Given the description of an element on the screen output the (x, y) to click on. 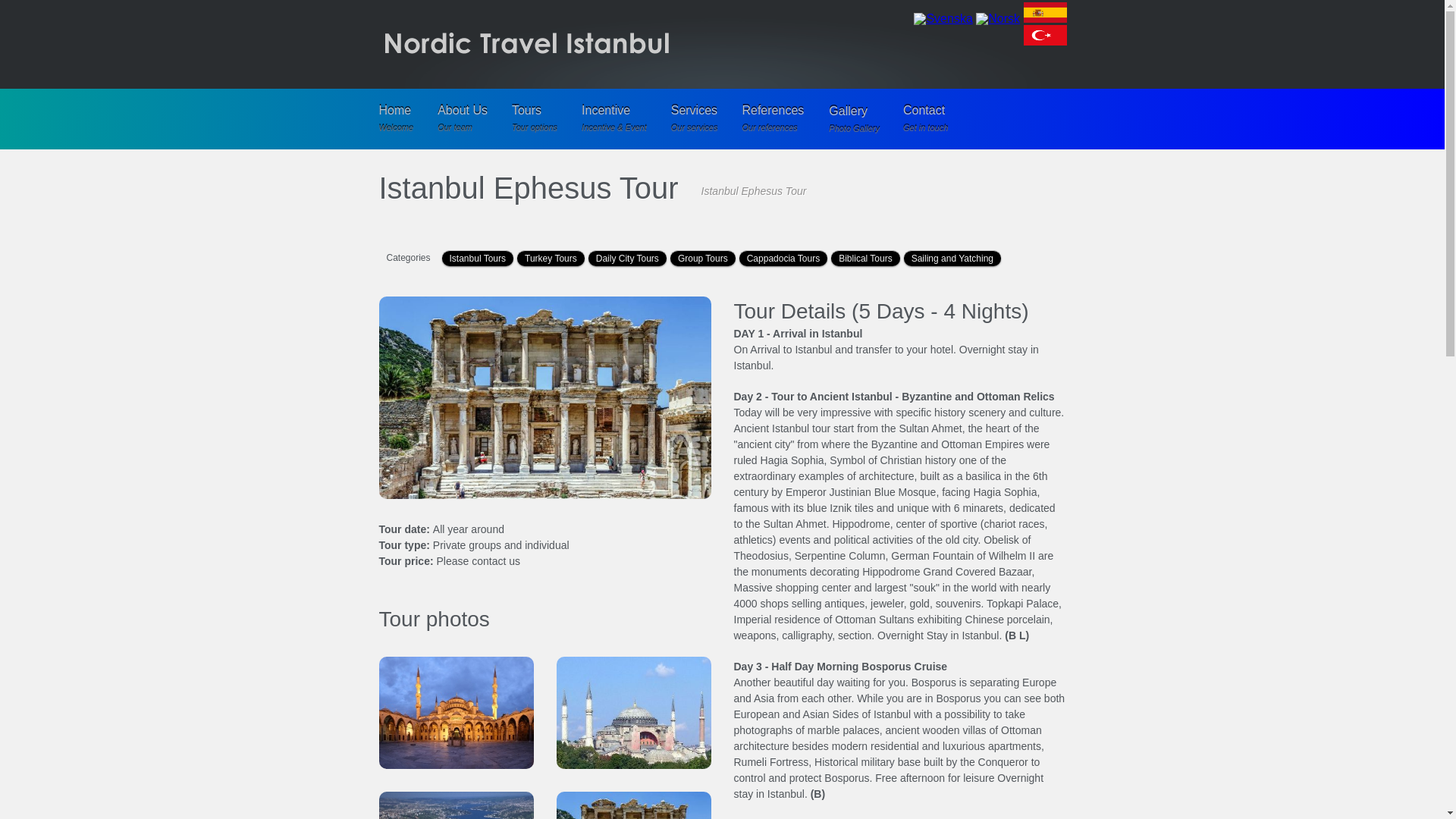
Group Tours (703, 258)
Sailing and Yatching (951, 258)
Istanbul Tours (477, 258)
Biblical Tours (462, 118)
Daily City Tours (694, 118)
Cappadocia Tours (534, 118)
Turkey Tours (772, 118)
